Given the description of an element on the screen output the (x, y) to click on. 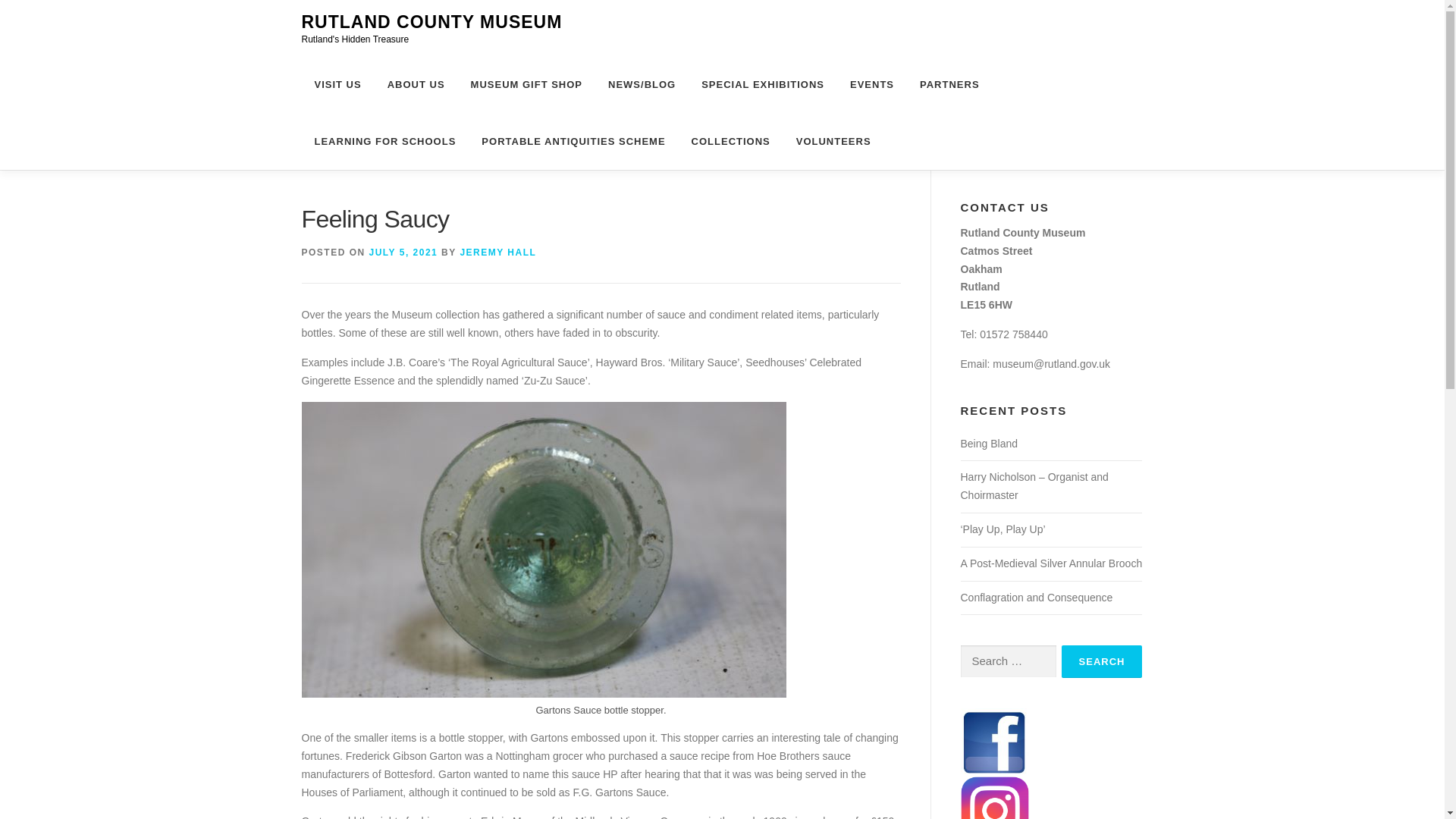
VISIT US (337, 84)
VOLUNTEERS (826, 141)
Conflagration and Consequence (1035, 597)
ABOUT US (416, 84)
LEARNING FOR SCHOOLS (384, 141)
JULY 5, 2021 (403, 252)
JEREMY HALL (497, 252)
A Post-Medieval Silver Annular Brooch (1050, 563)
SPECIAL EXHIBITIONS (762, 84)
PORTABLE ANTIQUITIES SCHEME (573, 141)
Being Bland (988, 443)
Search (1101, 661)
EVENTS (872, 84)
Search (1101, 661)
COLLECTIONS (730, 141)
